Given the description of an element on the screen output the (x, y) to click on. 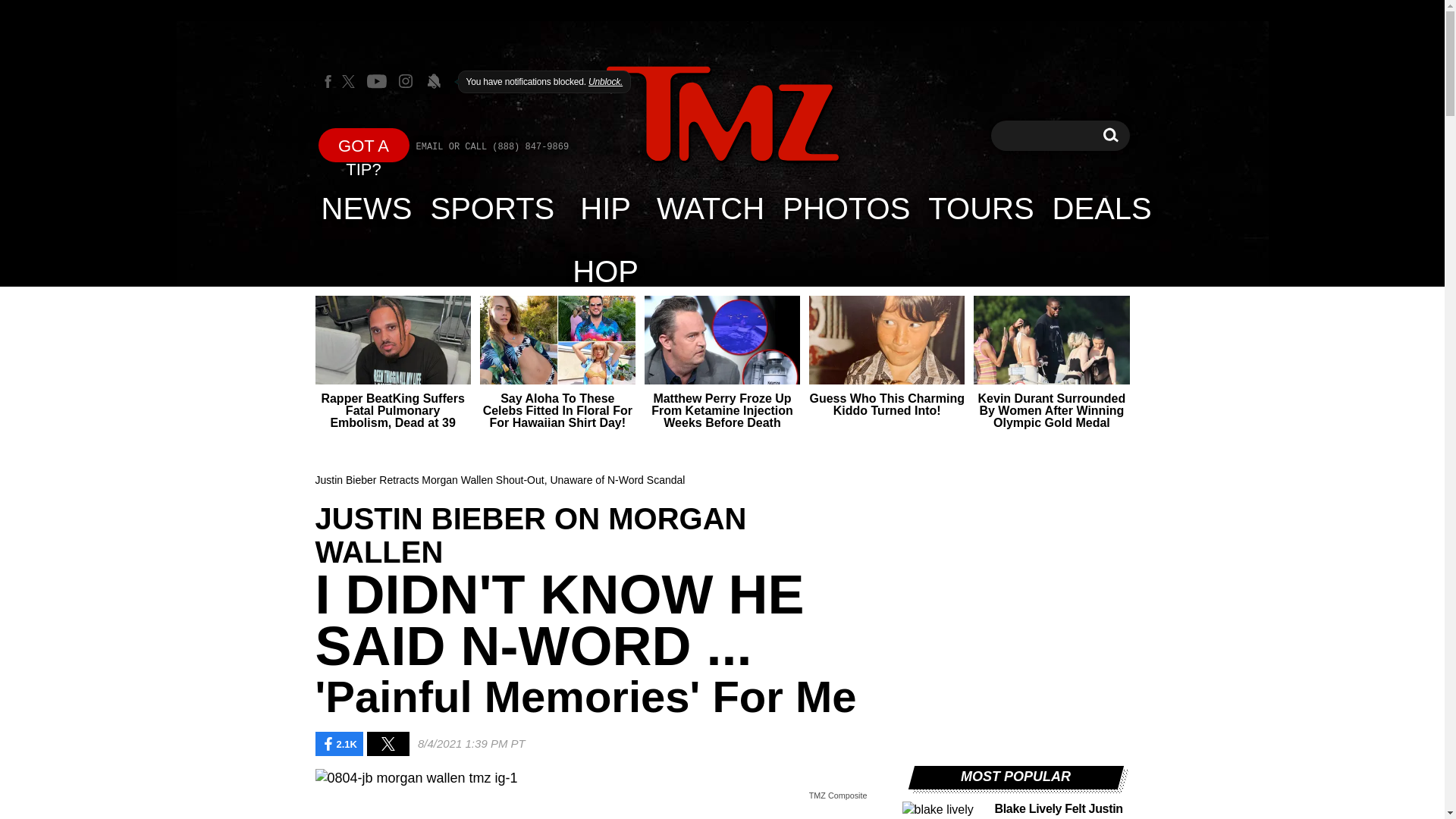
WATCH (710, 207)
PHOTOS (1110, 135)
DEALS (845, 207)
Search (1101, 207)
TOURS (1110, 134)
TMZ (980, 207)
SPORTS (722, 115)
NEWS (493, 207)
